Given the description of an element on the screen output the (x, y) to click on. 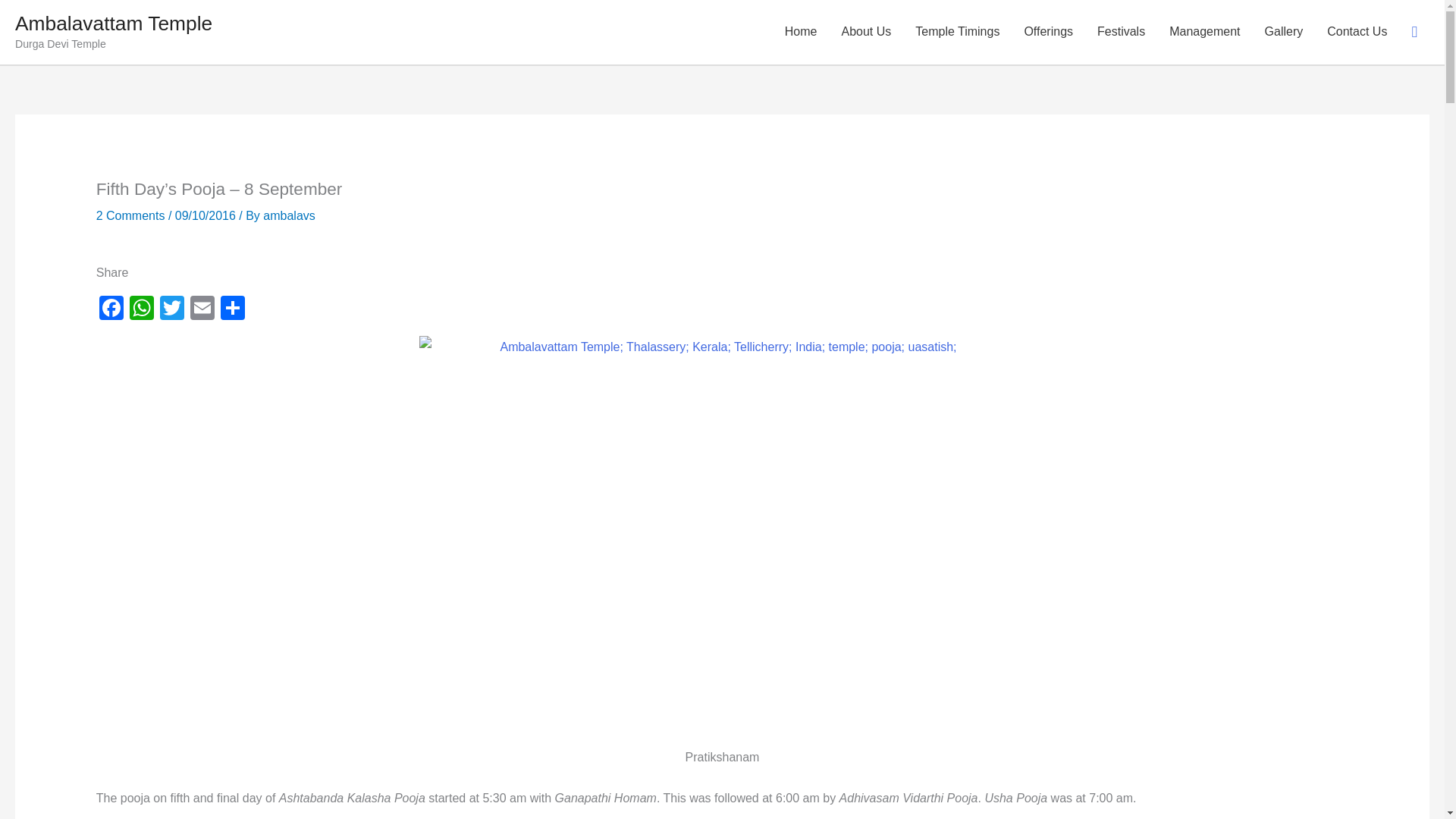
Festivals (1120, 32)
2 Comments (130, 215)
About Us (865, 32)
Twitter (172, 309)
ambalavs (288, 215)
Gallery (1284, 32)
Ambalavattam Temple (113, 23)
Email (201, 309)
WhatsApp (141, 309)
Management (1204, 32)
